Given the description of an element on the screen output the (x, y) to click on. 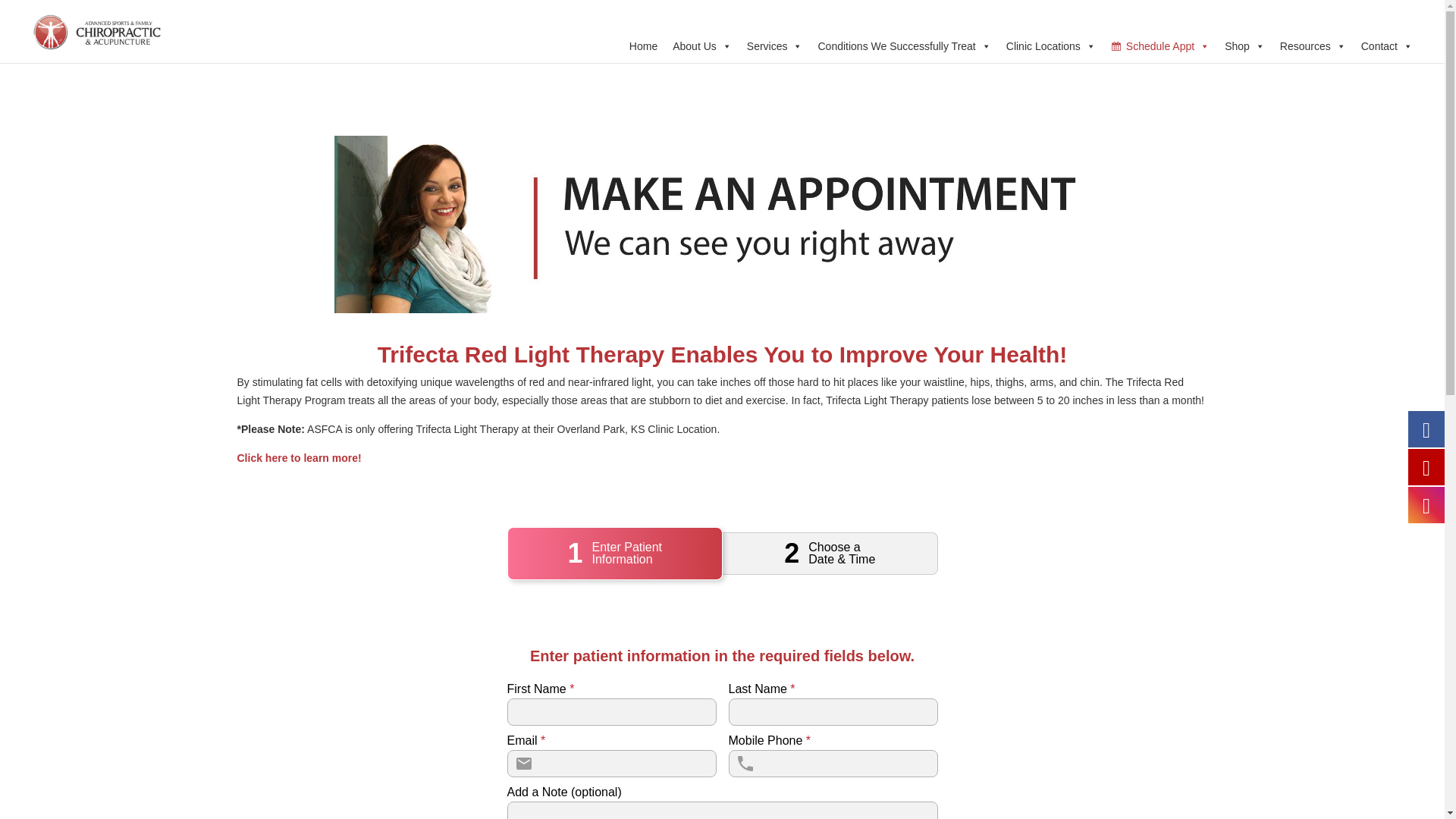
Home (643, 44)
About Us (702, 44)
Services (774, 44)
Conditions We Successfully Treat (903, 44)
